Given the description of an element on the screen output the (x, y) to click on. 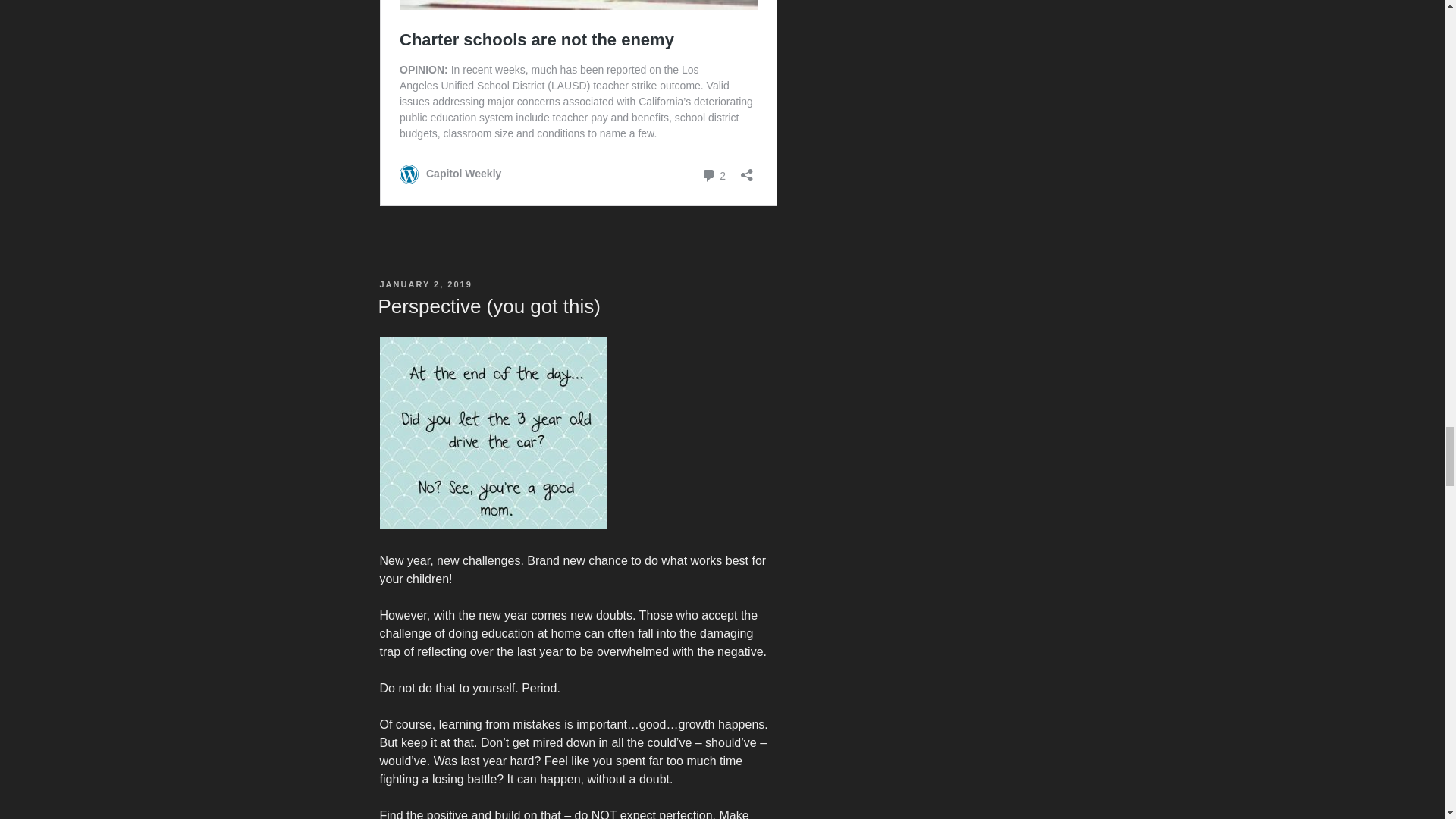
JANUARY 2, 2019 (424, 284)
